Given the description of an element on the screen output the (x, y) to click on. 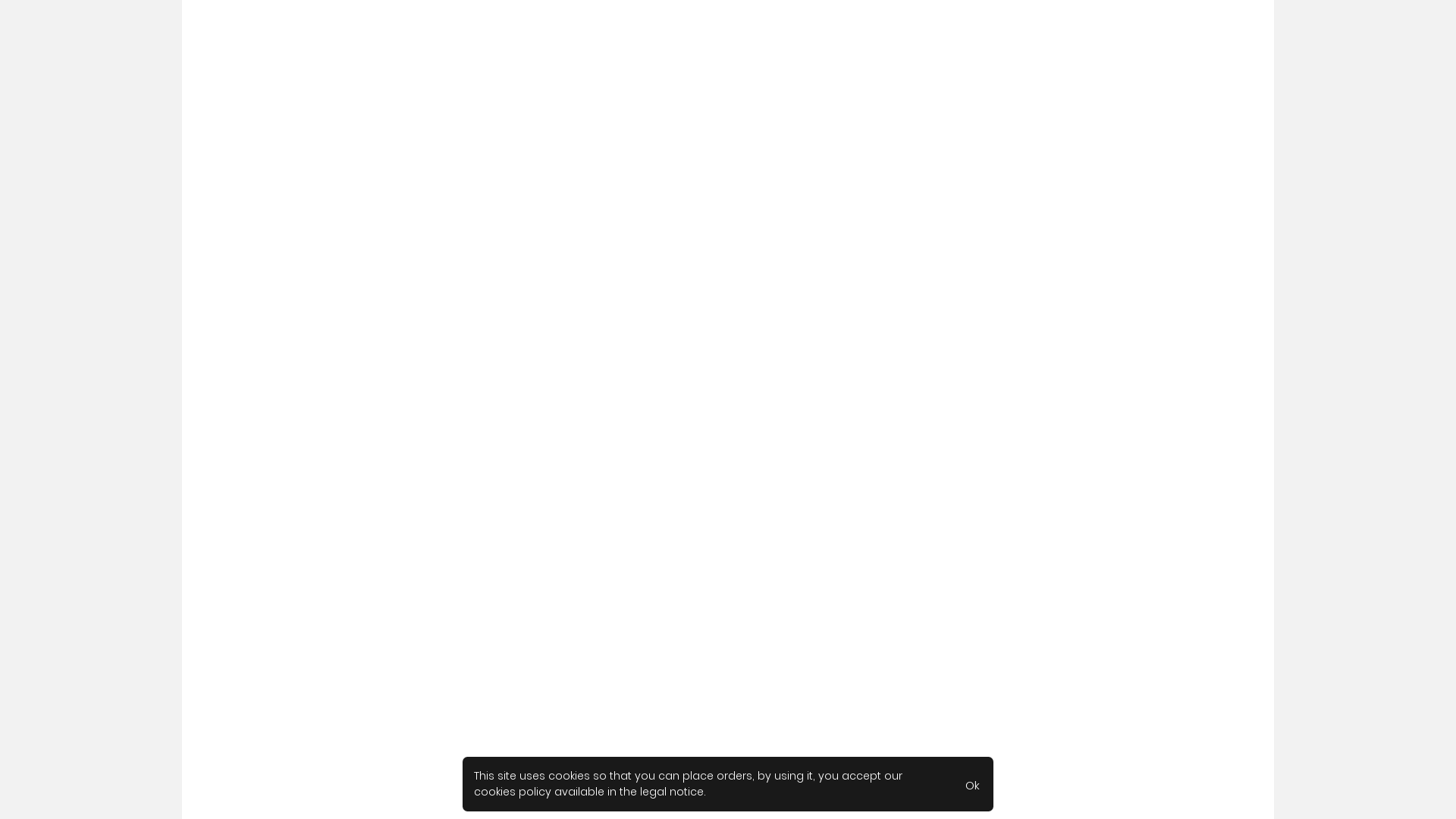
Ok Element type: text (972, 784)
